Given the description of an element on the screen output the (x, y) to click on. 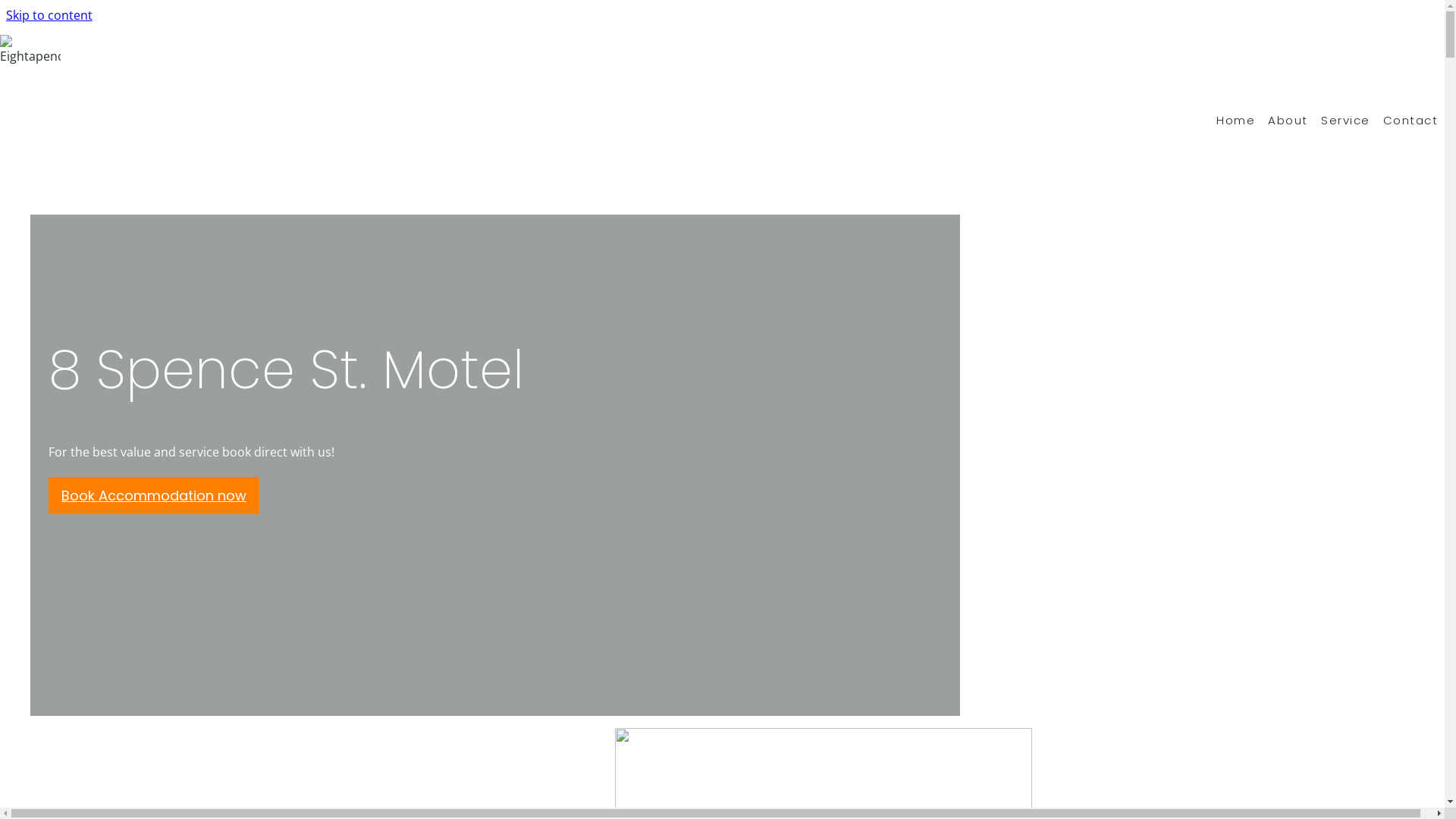
Book Accommodation now Element type: text (153, 495)
About Element type: text (1294, 120)
Home Element type: text (1242, 120)
Service Element type: text (1352, 120)
Skip to content Element type: text (49, 14)
